Given the description of an element on the screen output the (x, y) to click on. 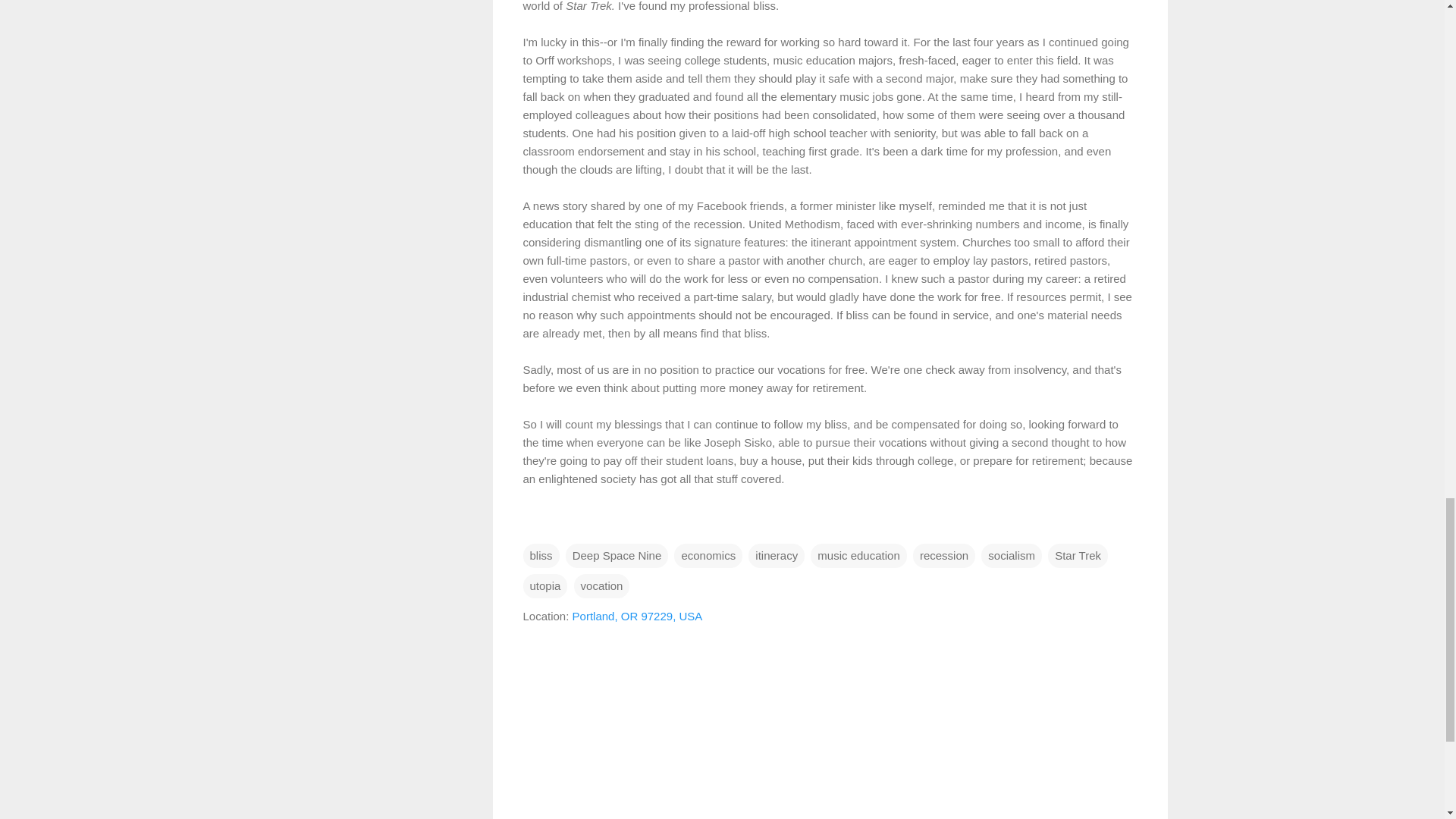
bliss (540, 555)
vocation (601, 586)
Star Trek (1078, 555)
recession (943, 555)
itineracy (776, 555)
utopia (544, 586)
socialism (1011, 555)
economics (708, 555)
music education (857, 555)
Portland, OR 97229, USA (637, 615)
